Given the description of an element on the screen output the (x, y) to click on. 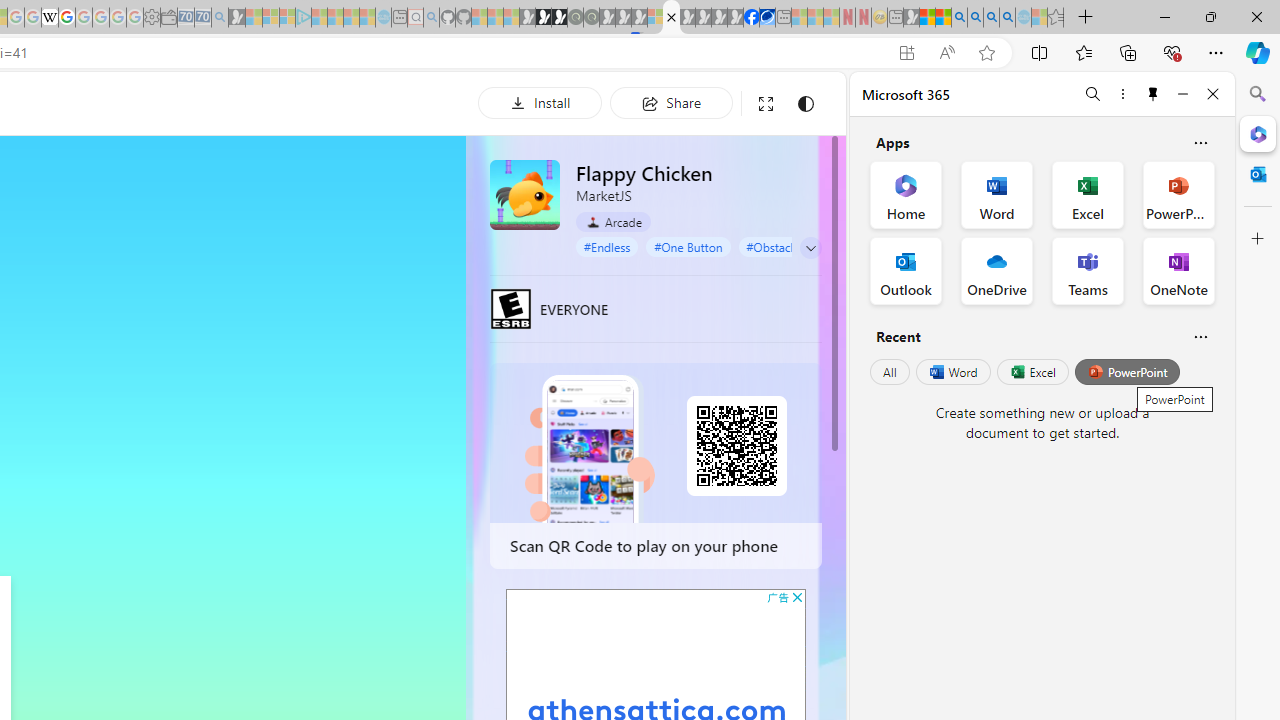
2009 Bing officially replaced Live Search on June 3 - Search (975, 17)
EVERYONE (511, 308)
Microsoft Start Gaming - Sleeping (236, 17)
Home Office App (906, 194)
